Given the description of an element on the screen output the (x, y) to click on. 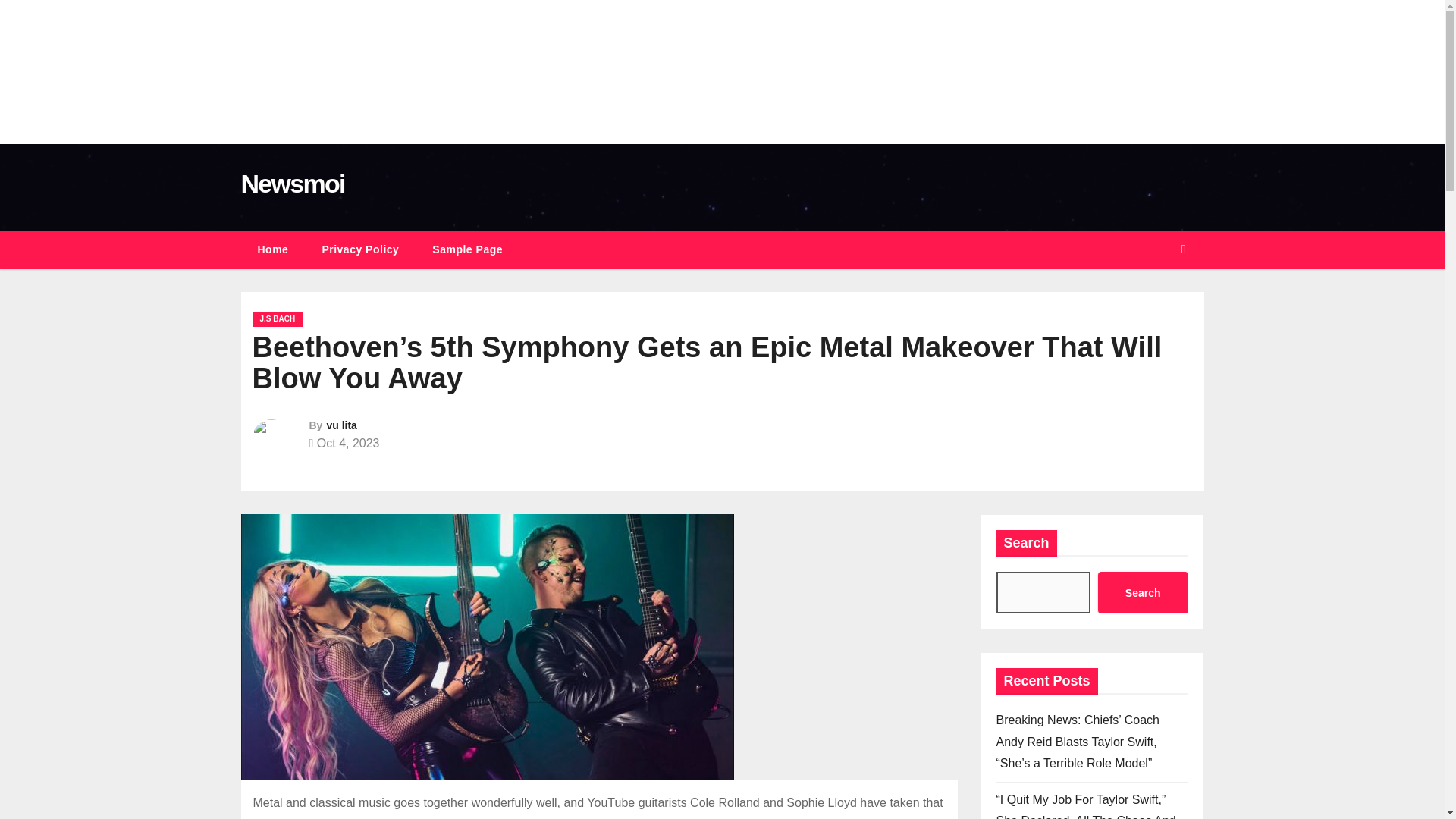
vu lita (341, 425)
Home (273, 249)
Newsmoi (293, 183)
J.S BACH (276, 319)
Sample Page (466, 249)
Home (273, 249)
Privacy Policy (359, 249)
